Given the description of an element on the screen output the (x, y) to click on. 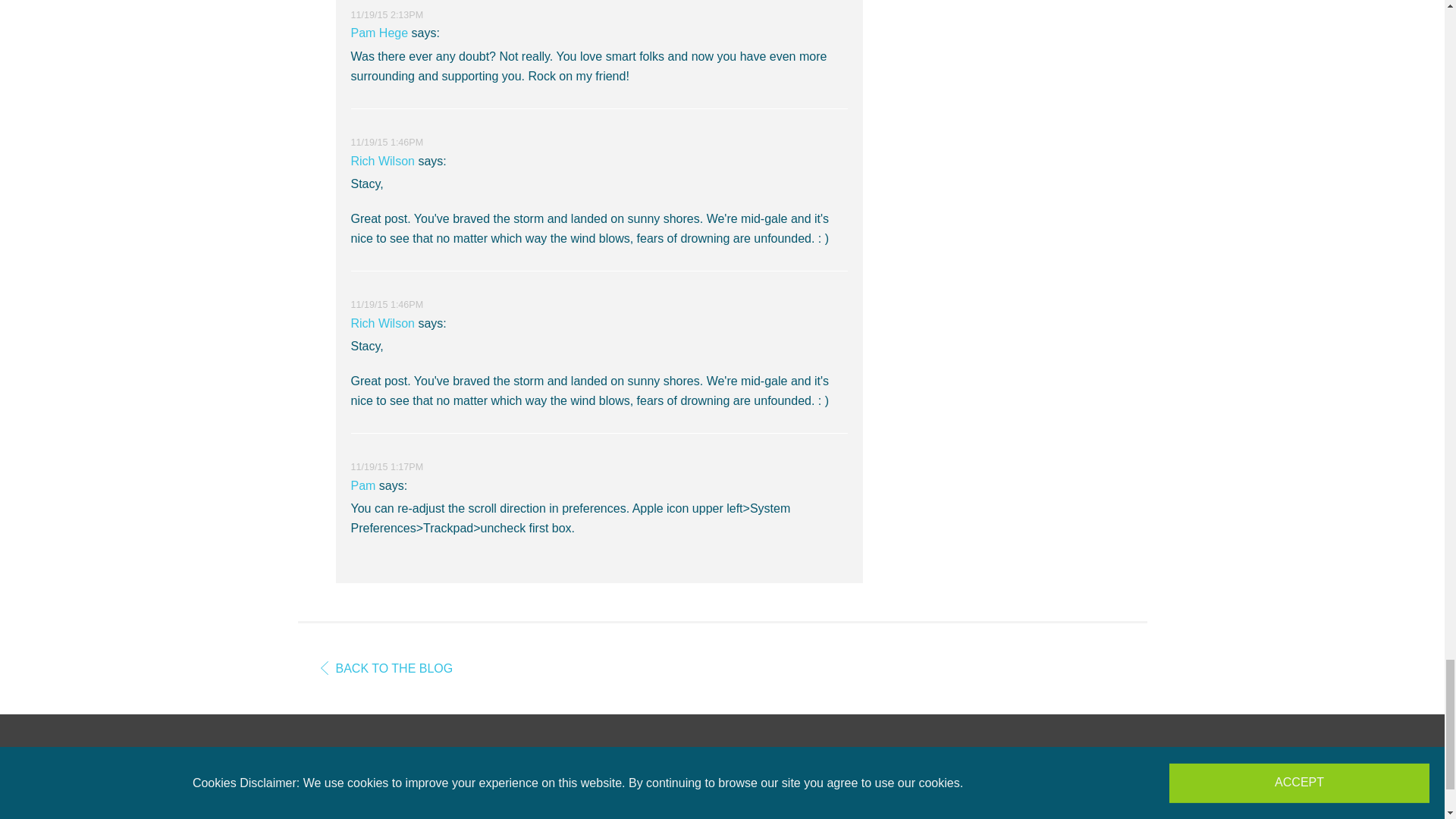
VIMEO (1103, 817)
1.877.826.5531 (344, 817)
NEBO (721, 793)
NEBO (721, 793)
Rich Wilson (381, 323)
X (1036, 817)
BACK TO THE BLOG (386, 667)
Pam (362, 485)
VIMEO (1103, 817)
FACEBOOK (1003, 817)
LINKEDIN (1137, 817)
Rich Wilson (381, 160)
INSTAGRAM (1070, 817)
X (1036, 817)
INSTAGRAM (1070, 817)
